Given the description of an element on the screen output the (x, y) to click on. 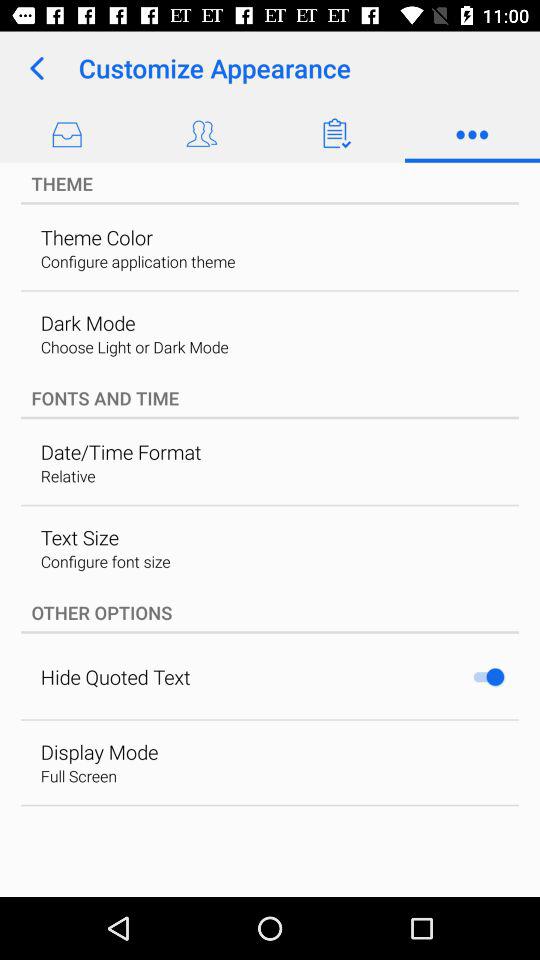
choose item below configure font size (270, 612)
